Given the description of an element on the screen output the (x, y) to click on. 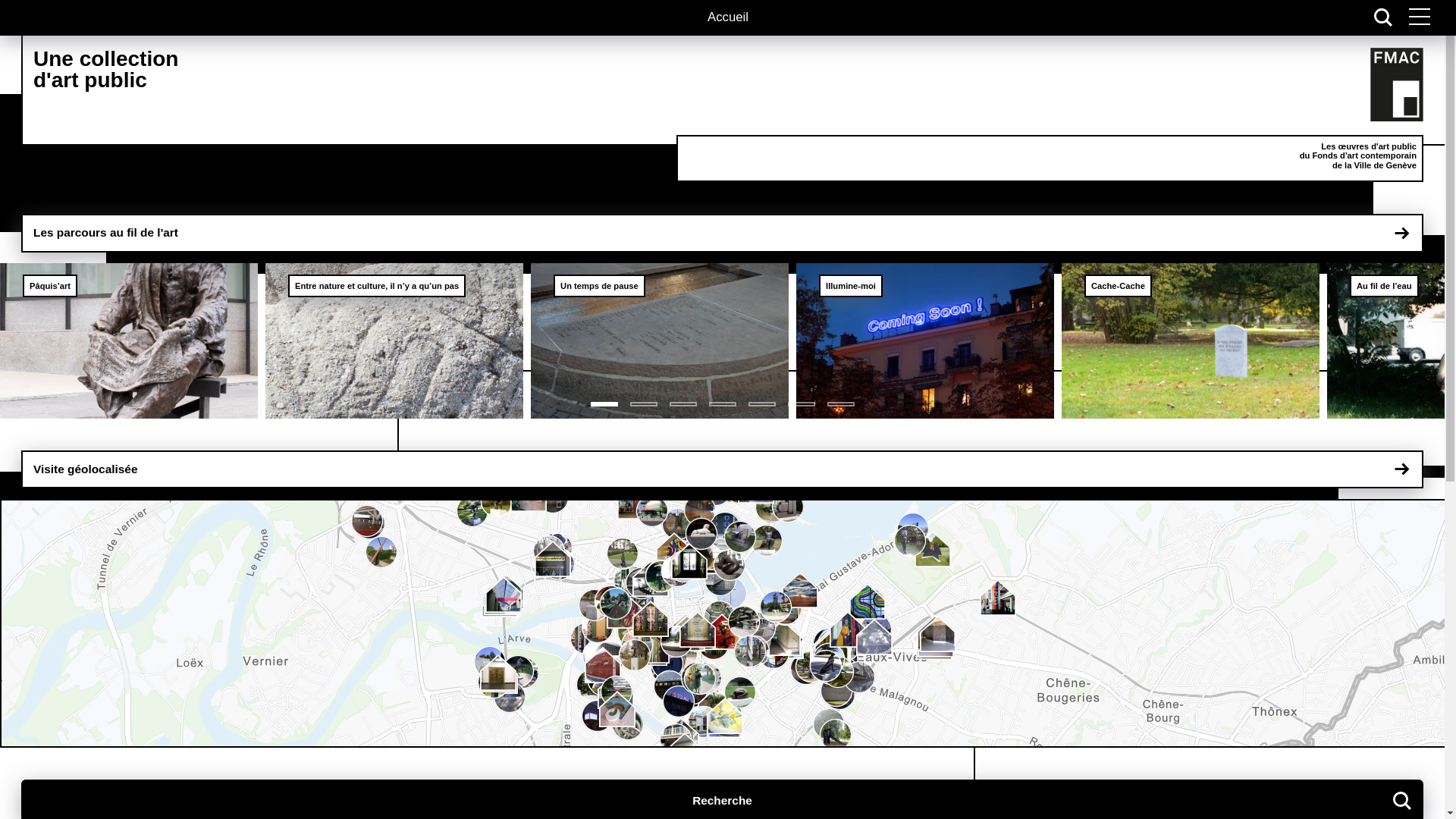
Les parcours au fil de l'art Element type: text (722, 232)
